Given the description of an element on the screen output the (x, y) to click on. 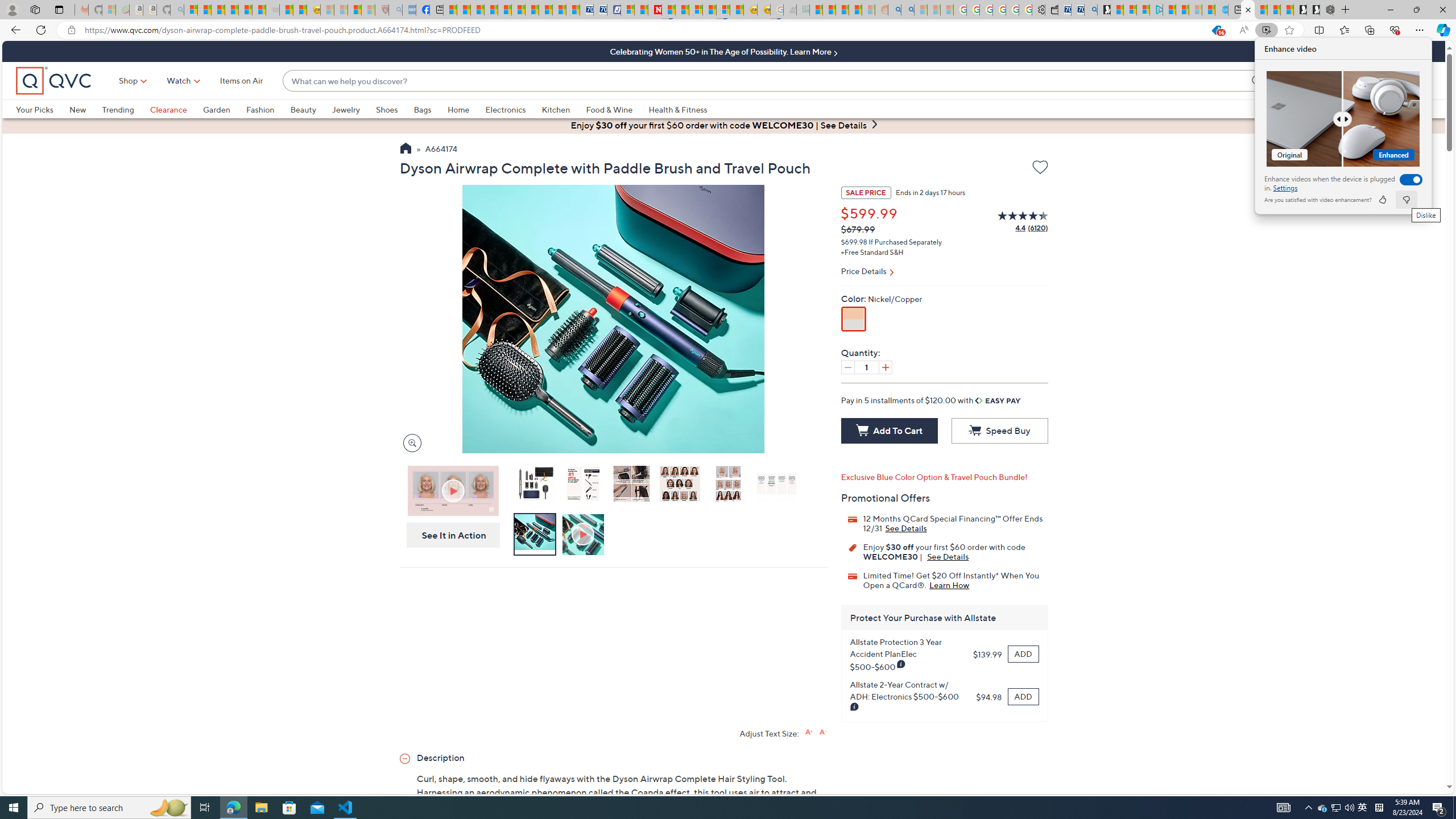
Kitchen (563, 109)
Health & Fitness (677, 109)
Class: infoIcon fancybox fancybox.ajax (855, 706)
Add to Wish List (1040, 168)
